Given the description of an element on the screen output the (x, y) to click on. 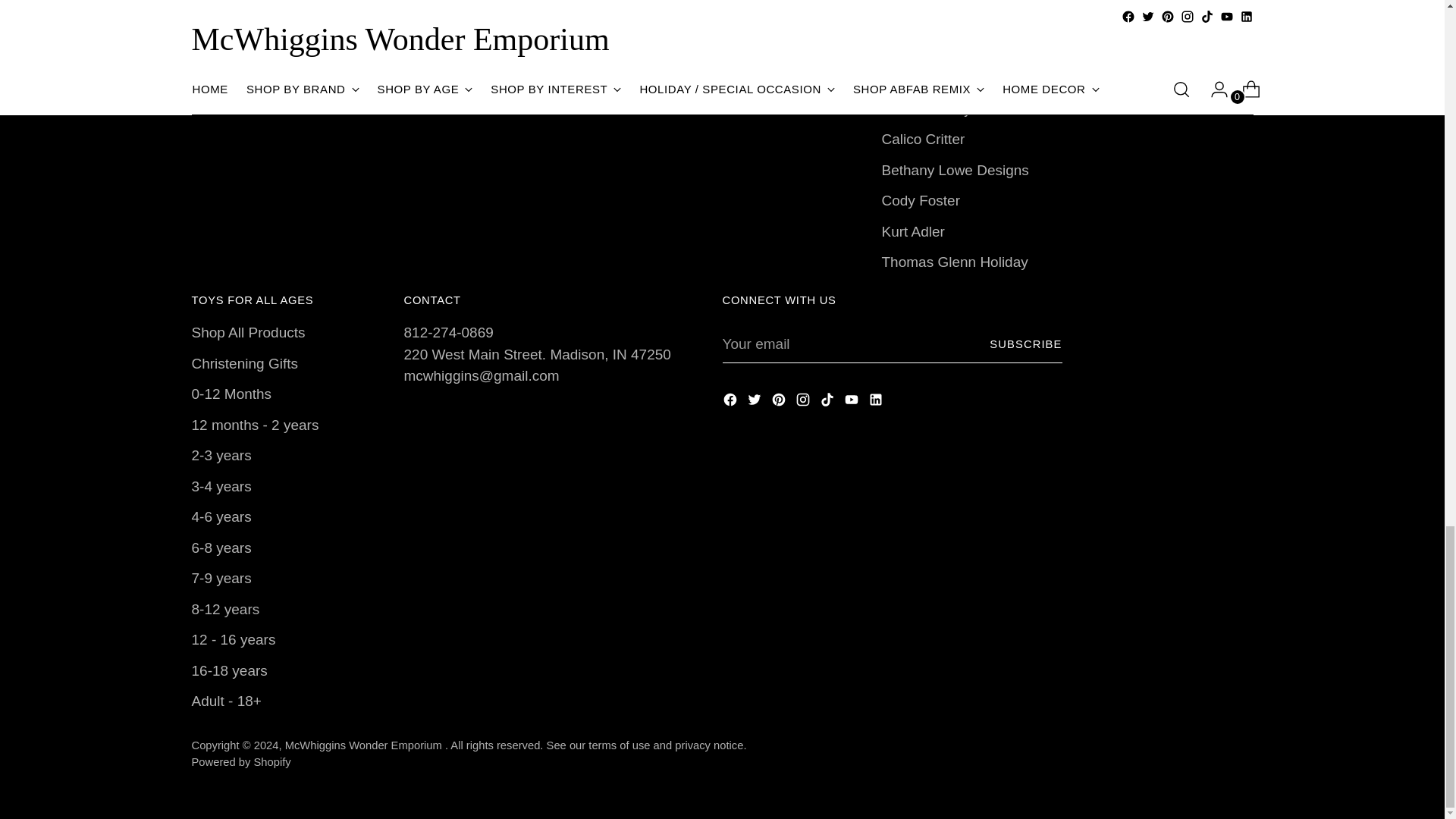
McWhiggins Wonder Emporium  on Tiktok (827, 403)
McWhiggins Wonder Emporium  on Twitter (754, 403)
McWhiggins Wonder Emporium  on Facebook (730, 403)
McWhiggins Wonder Emporium  on Pinterest (779, 403)
McWhiggins Wonder Emporium  on LinkedIn (876, 403)
McWhiggins Wonder Emporium  on YouTube (852, 403)
McWhiggins Wonder Emporium  on Instagram (803, 403)
